Given the description of an element on the screen output the (x, y) to click on. 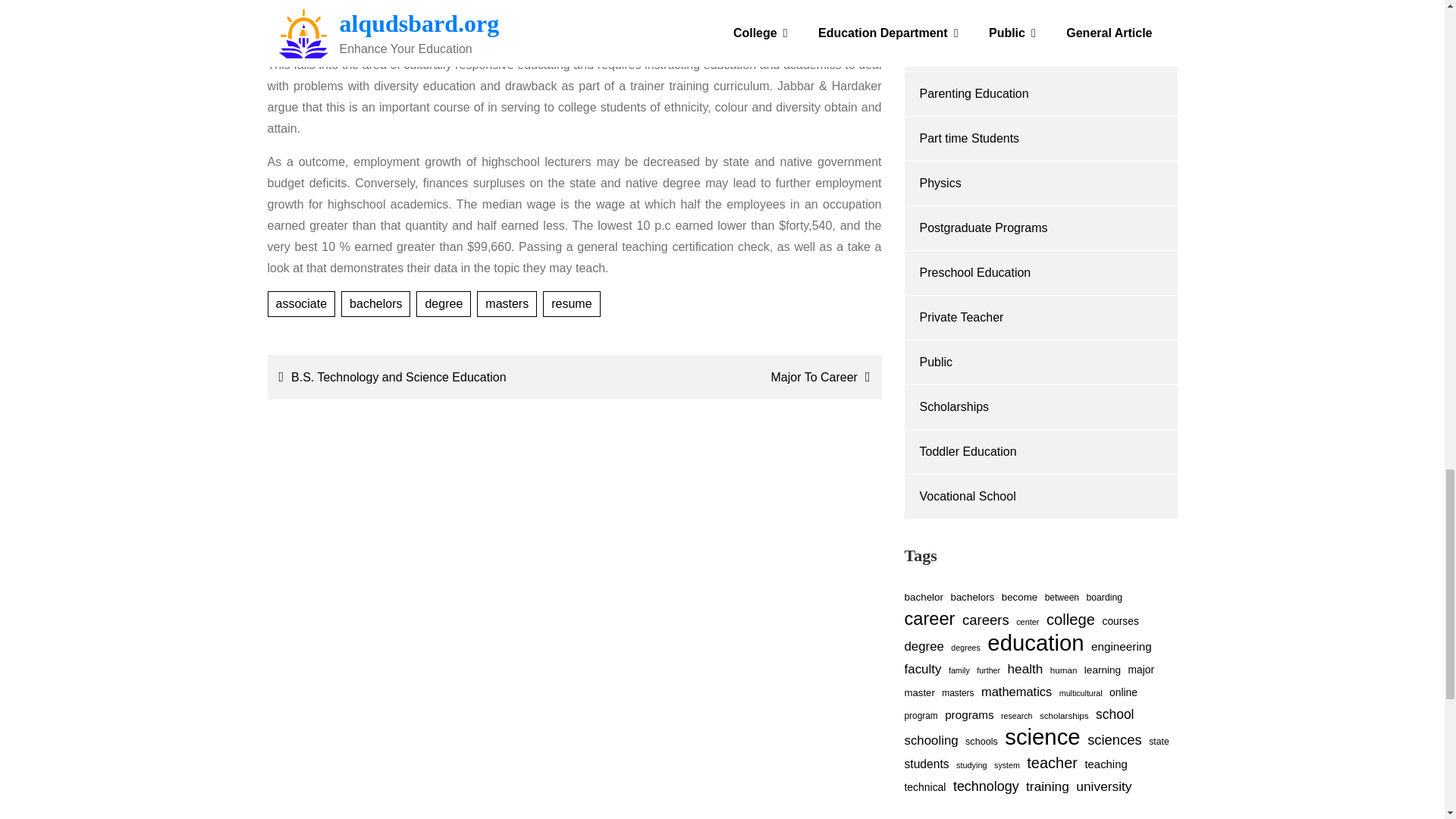
bachelors (375, 303)
Major To Career (730, 377)
associate (300, 303)
resume (571, 303)
B.S. Technology and Science Education (417, 377)
degree (443, 303)
masters (507, 303)
